Given the description of an element on the screen output the (x, y) to click on. 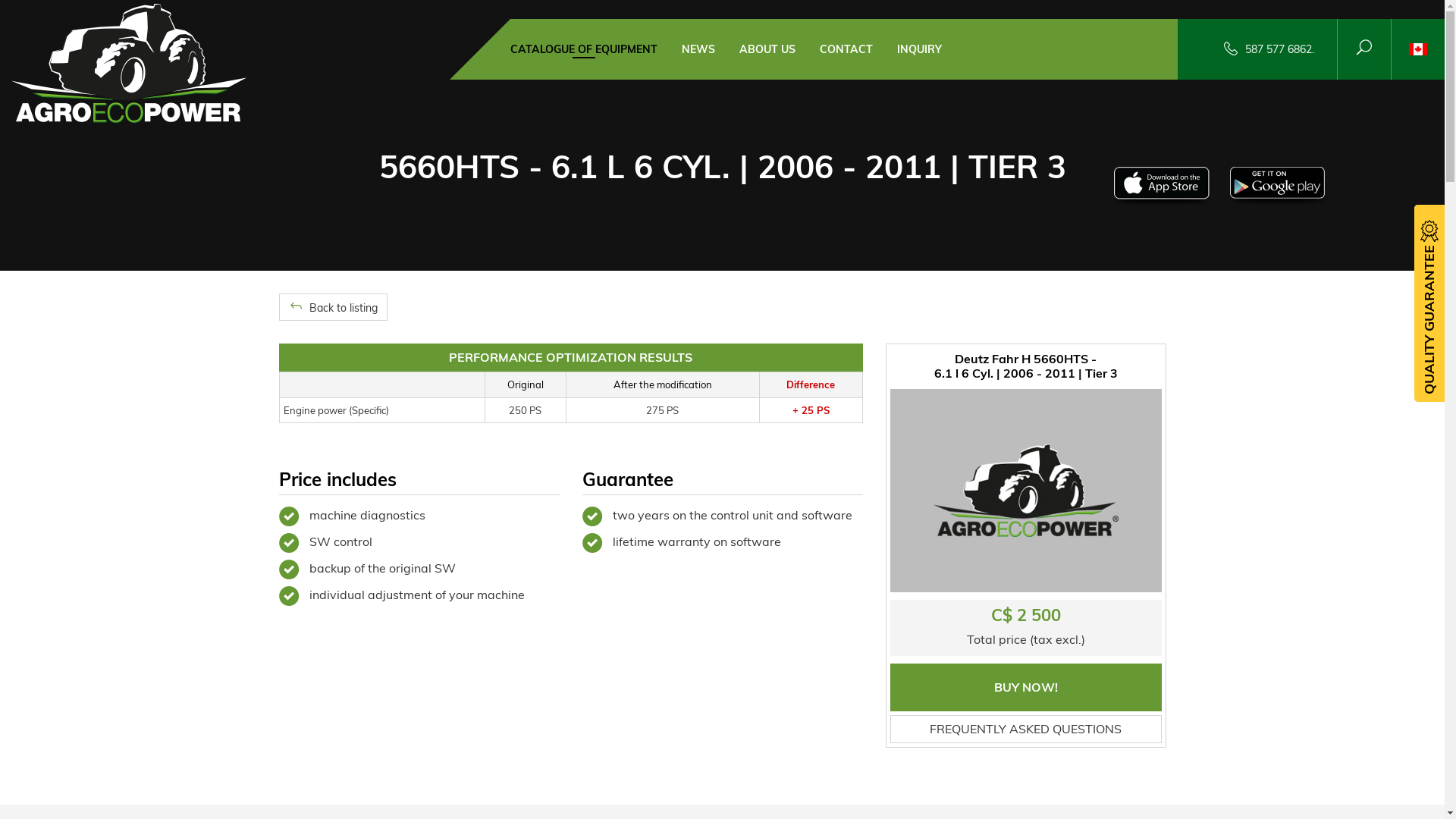
BUY NOW! Element type: text (1025, 687)
NEWS Element type: text (697, 48)
587 577 6862. Element type: text (1279, 48)
CATALOGUE OF EQUIPMENT Element type: text (582, 49)
Back to listing Element type: text (333, 306)
CONTACT Element type: text (845, 48)
FREQUENTLY ASKED QUESTIONS Element type: text (1025, 729)
Send message Element type: text (56, 18)
ABOUT US Element type: text (766, 48)
INQUIRY Element type: text (918, 48)
AgroEcoPower Element type: hover (128, 61)
